Given the description of an element on the screen output the (x, y) to click on. 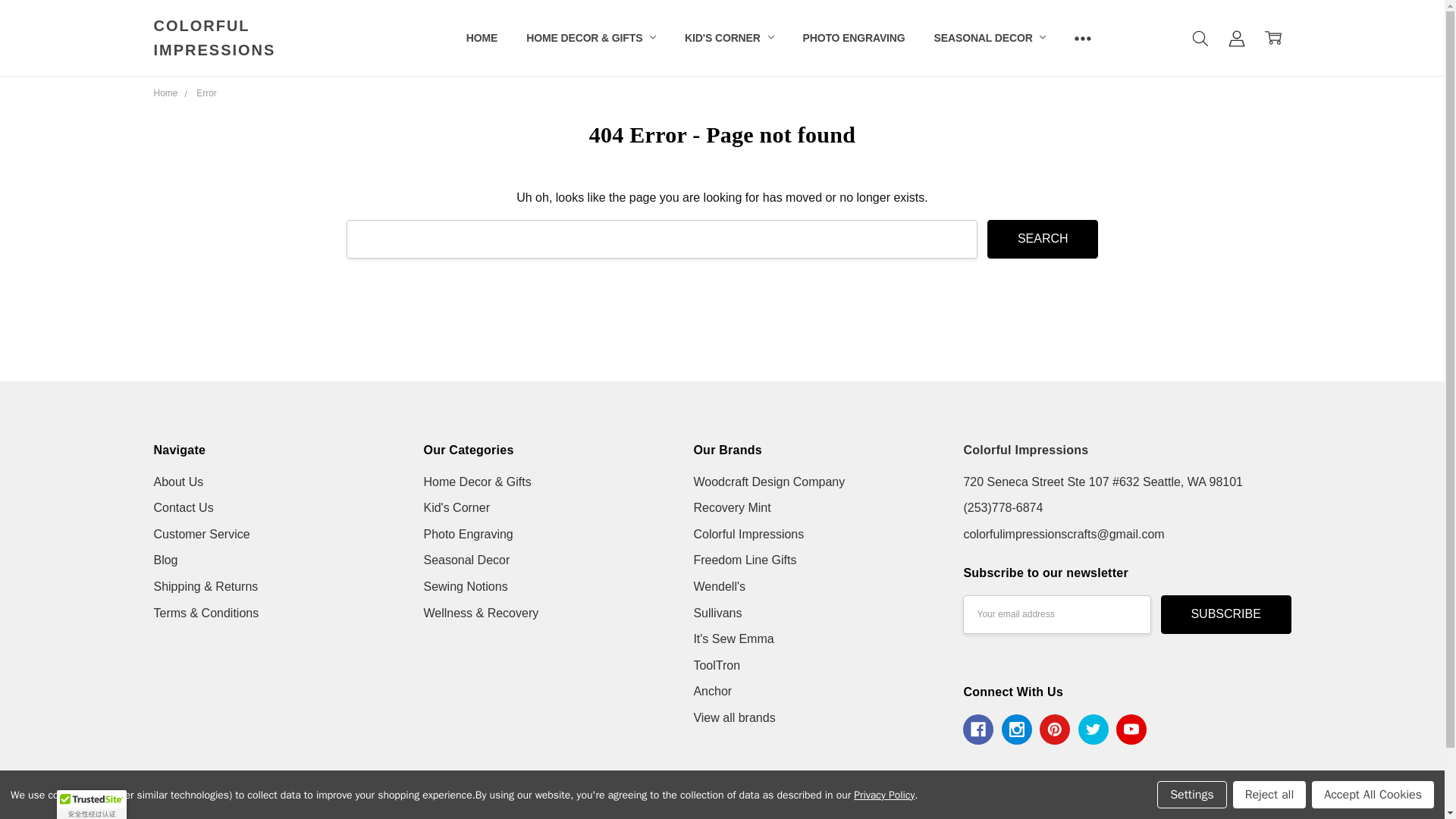
CUSTOMER SERVICE (520, 38)
TrustedSite Certified (91, 804)
ABOUT US (493, 38)
COLORFUL IMPRESSIONS (263, 86)
SEASONAL DECOR (990, 38)
KID'S CORNER (728, 38)
CONTACT US (499, 38)
Subscribe (1225, 614)
Search (1042, 239)
PHOTO ENGRAVING (854, 38)
